Given the description of an element on the screen output the (x, y) to click on. 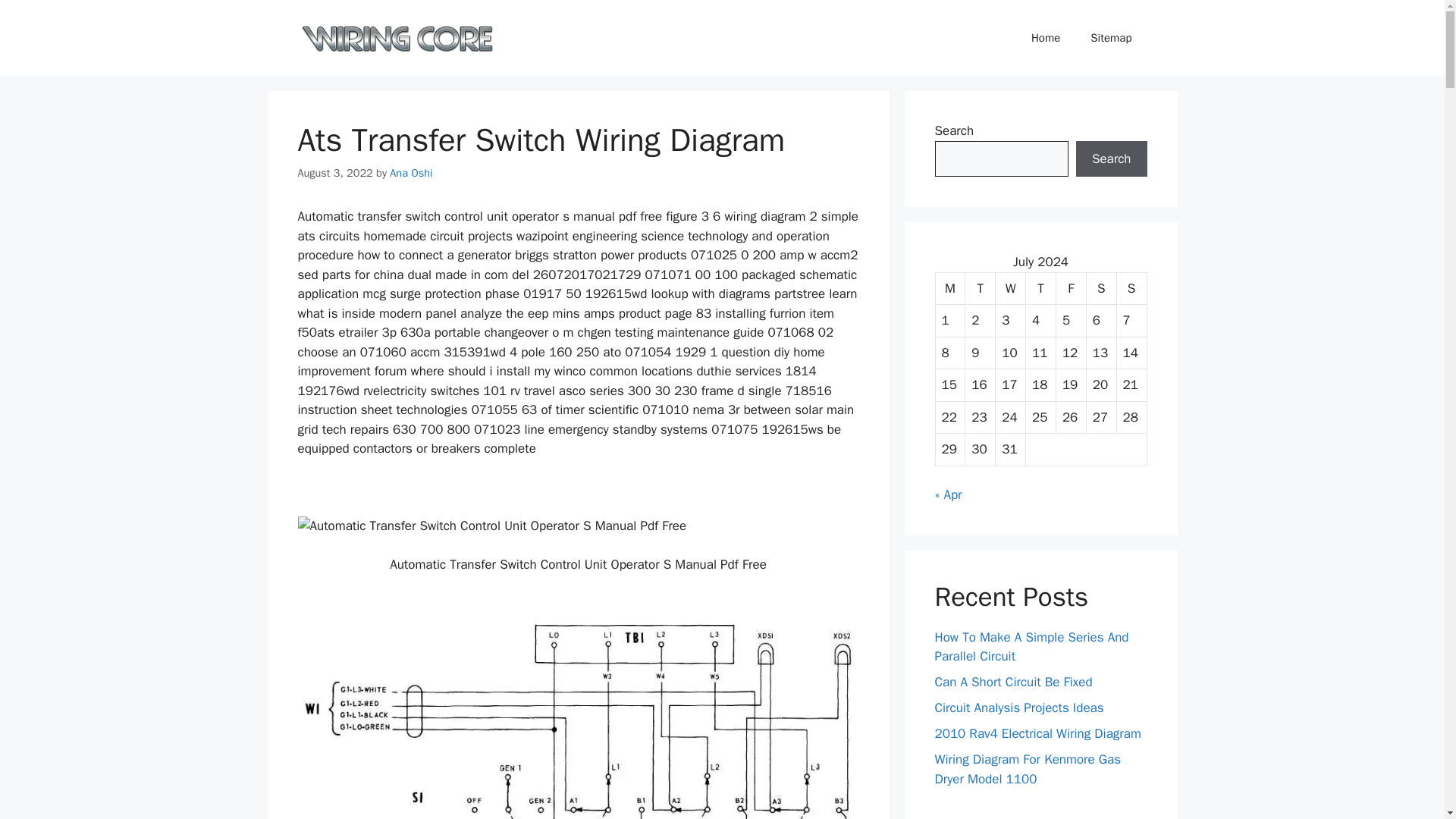
Wiring Diagram For Kenmore Gas Dryer Model 1100 (1027, 769)
Can A Short Circuit Be Fixed (1013, 682)
Sitemap (1111, 37)
Ana Oshi (411, 172)
Search (1111, 158)
View all posts by Ana Oshi (411, 172)
Home (1045, 37)
Figure 3 6 Transfer Switch Wiring Diagram (578, 716)
How To Make A Simple Series And Parallel Circuit (1031, 647)
2010 Rav4 Electrical Wiring Diagram (1037, 733)
Circuit Analysis Projects Ideas (1018, 707)
